Given the description of an element on the screen output the (x, y) to click on. 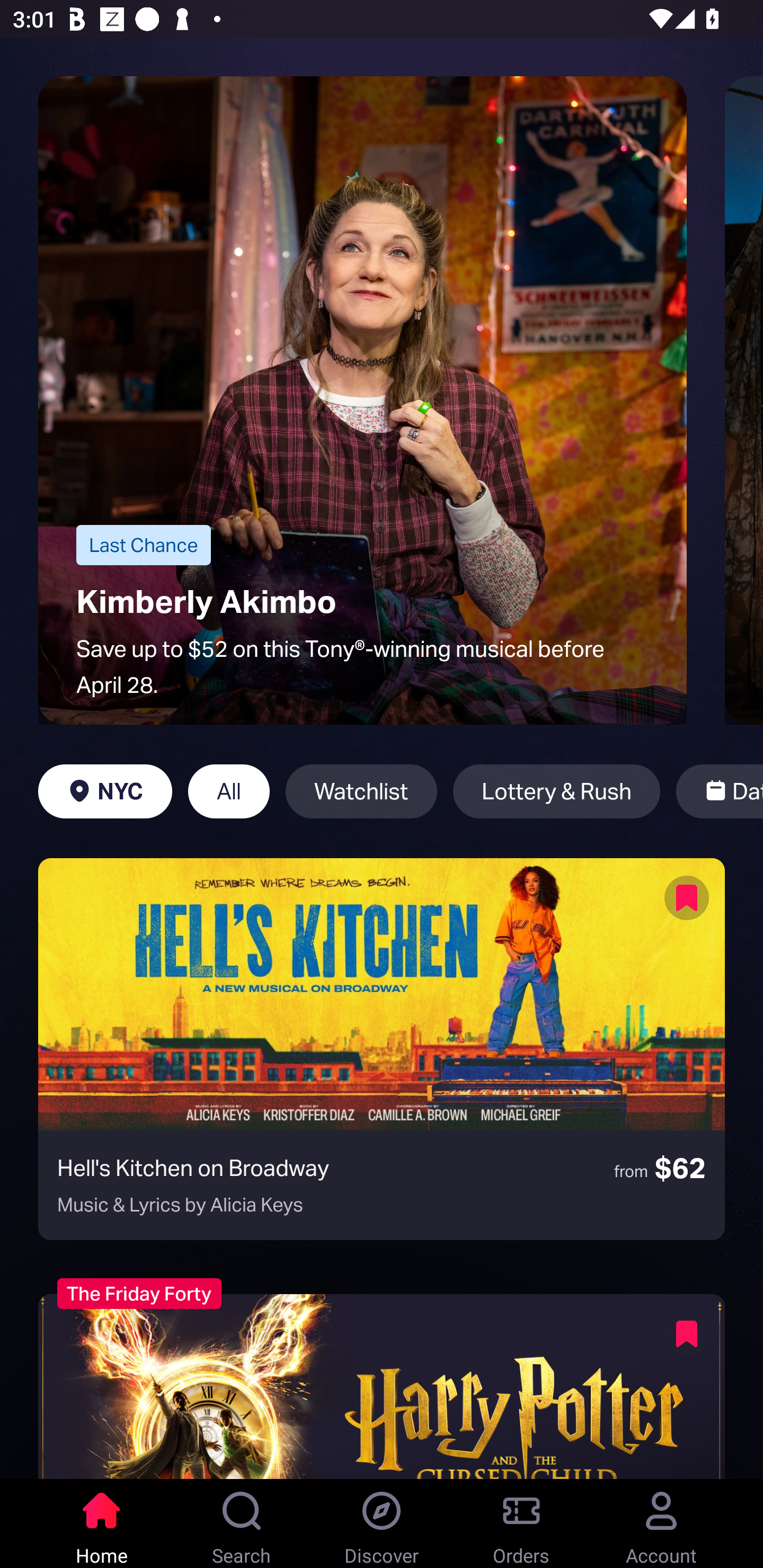
NYC (105, 791)
All (228, 791)
Watchlist (361, 791)
Lottery & Rush (556, 791)
Search (241, 1523)
Discover (381, 1523)
Orders (521, 1523)
Account (660, 1523)
